Given the description of an element on the screen output the (x, y) to click on. 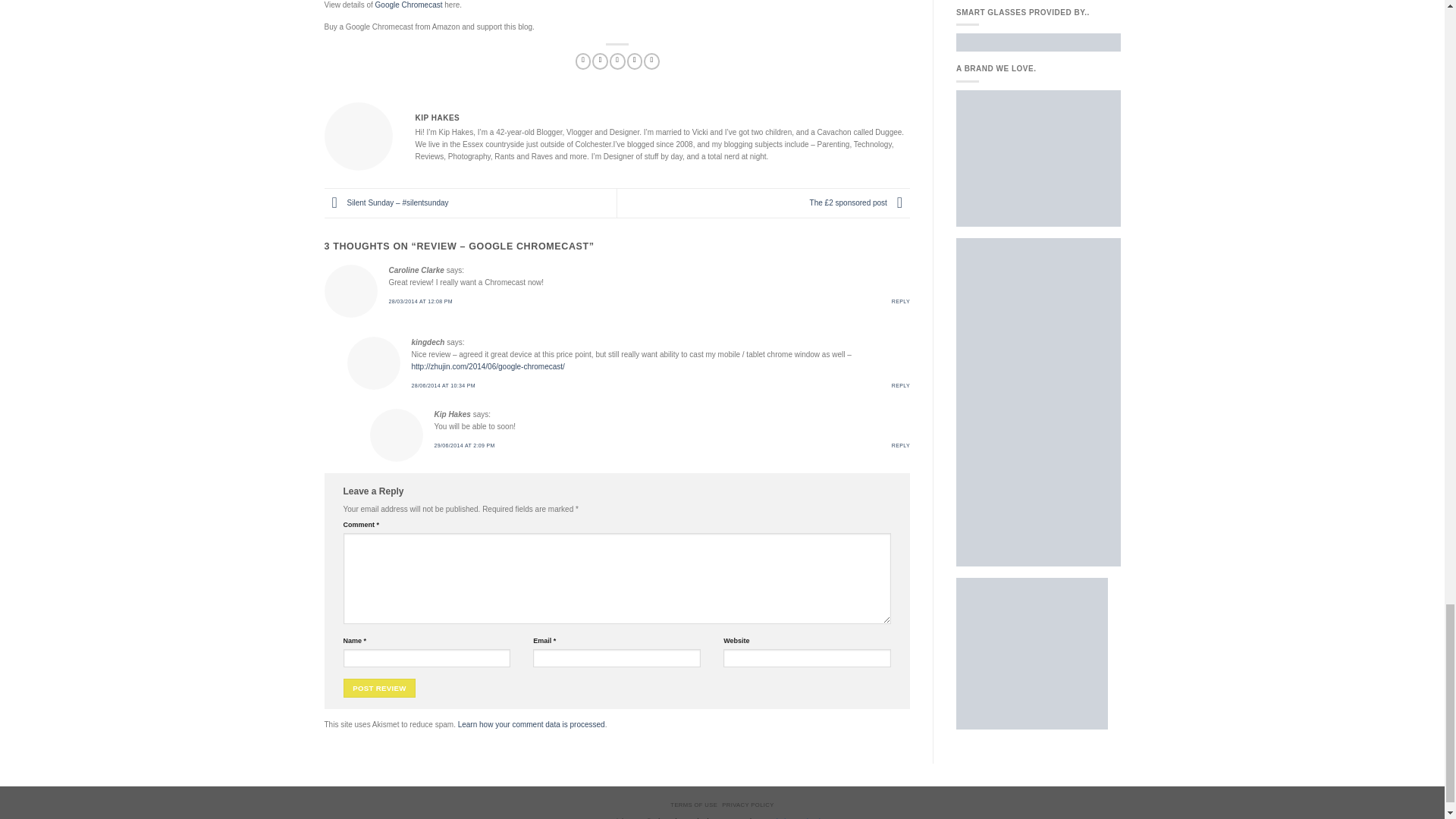
REPLY (900, 300)
Share on Twitter (600, 61)
Google Chromecast (408, 4)
Share on LinkedIn (651, 61)
Post Review (378, 687)
Email to a Friend (618, 61)
Share on Facebook (583, 61)
Pin on Pinterest (635, 61)
